Given the description of an element on the screen output the (x, y) to click on. 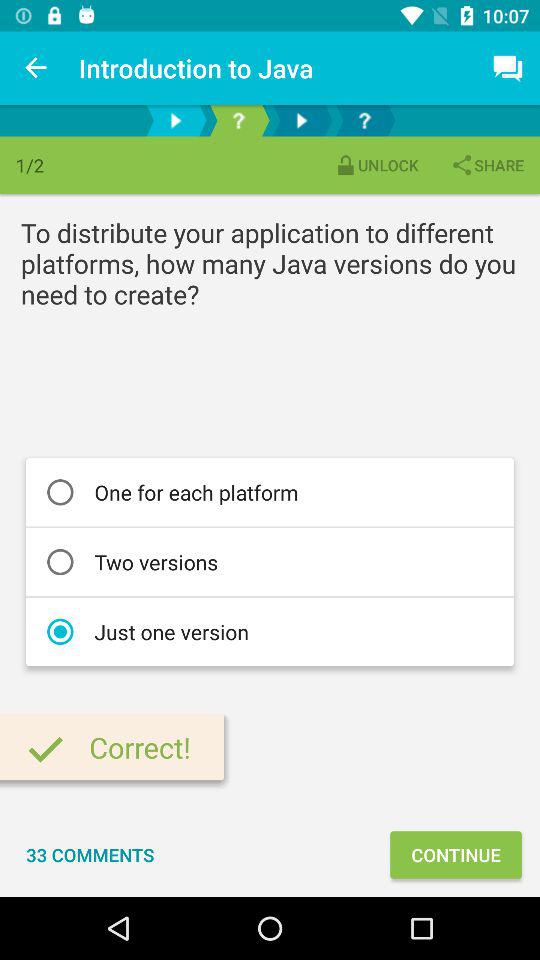
turn on icon to the left of the continue item (90, 854)
